Given the description of an element on the screen output the (x, y) to click on. 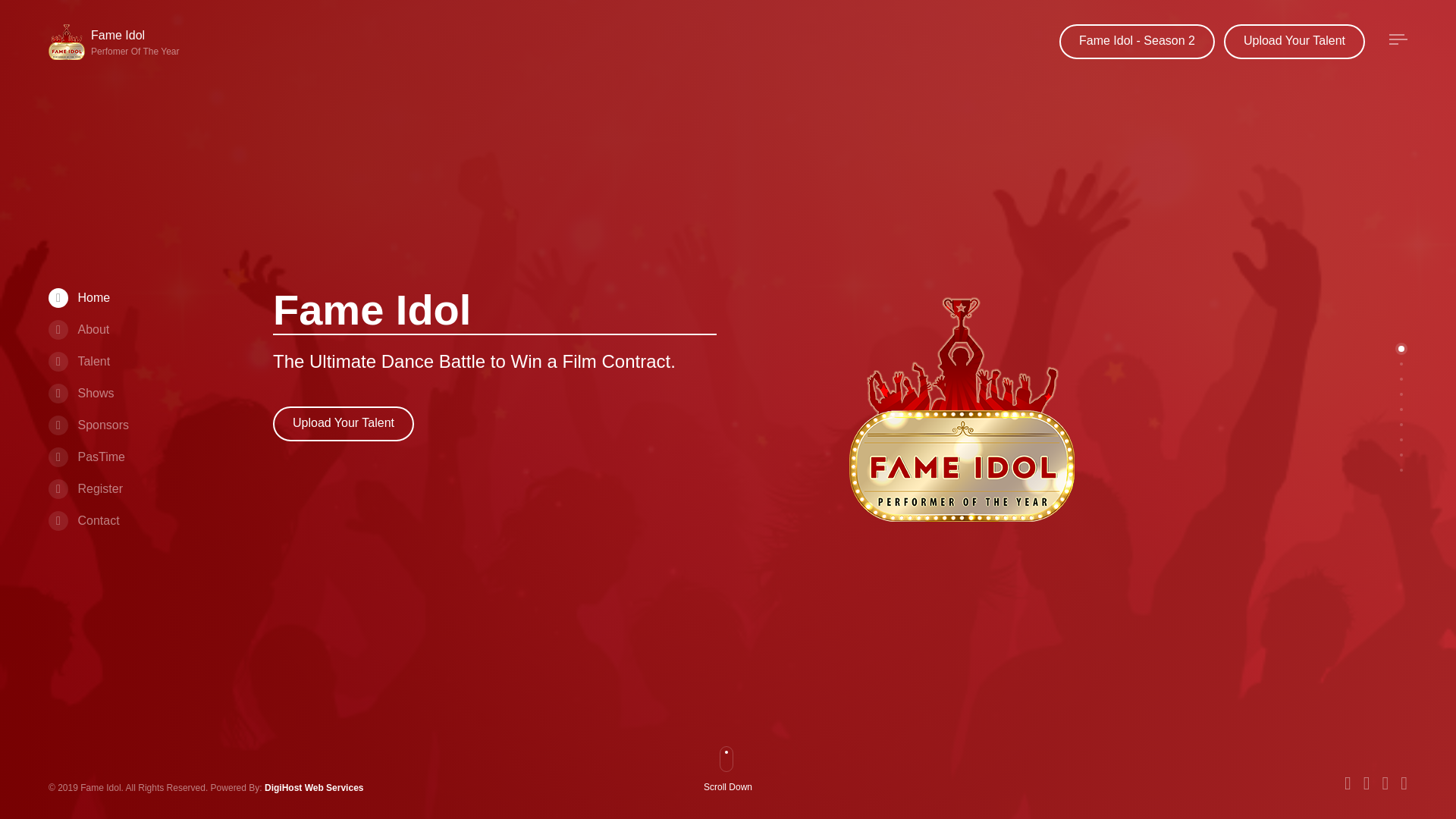
Fame Idol - Season 2 (1136, 41)
About (78, 328)
Sponsors (88, 424)
Scroll Down (733, 788)
Contact (83, 520)
Shows (80, 392)
PasTime (86, 456)
Home (79, 297)
DigiHost Web Services (314, 787)
Talent (79, 360)
